Given the description of an element on the screen output the (x, y) to click on. 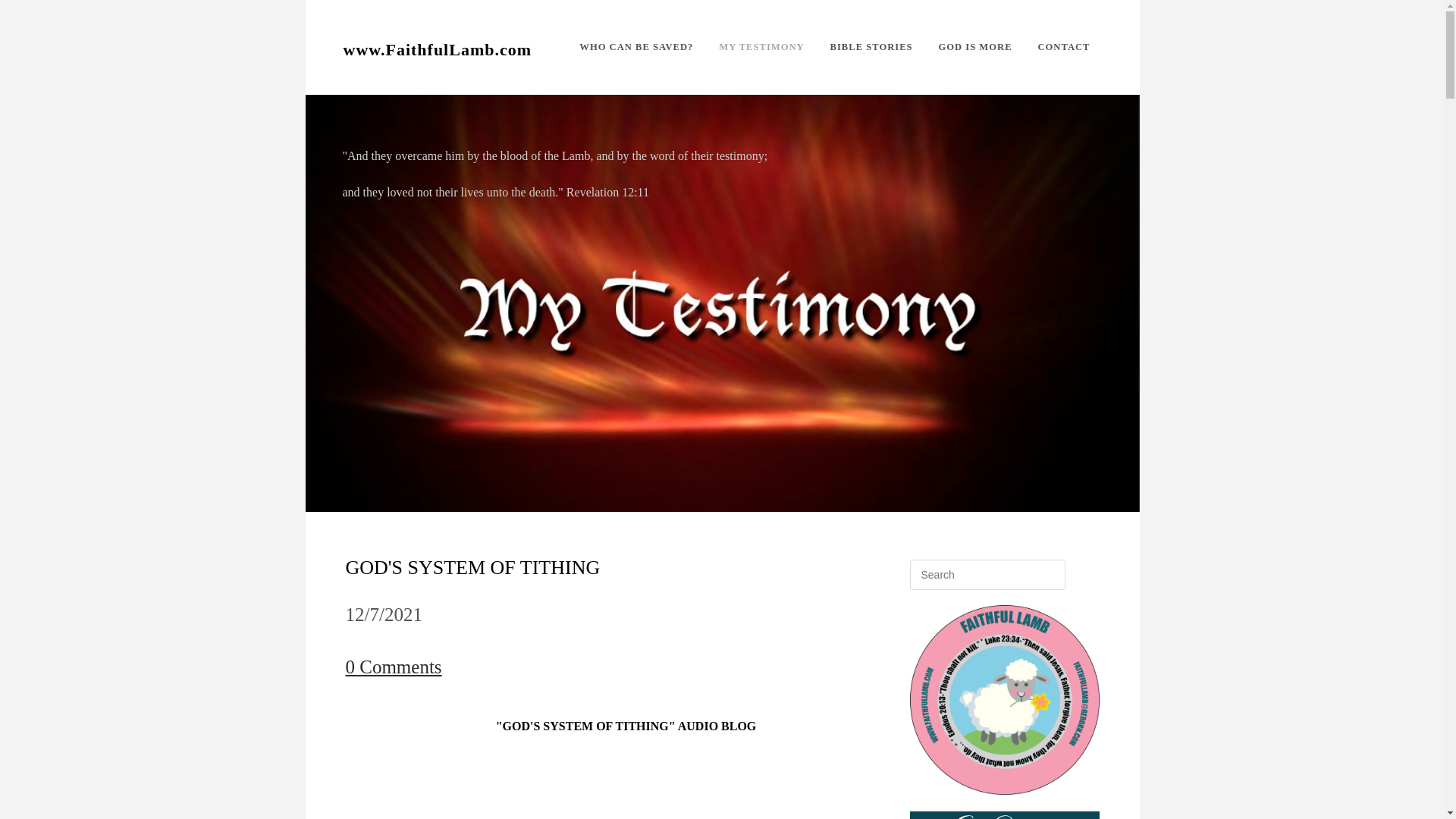
GOD IS MORE (974, 47)
BIBLE STORIES (871, 47)
WHO CAN BE SAVED? (635, 47)
MY TESTIMONY (761, 47)
0 Comments (394, 666)
CONTACT (1063, 47)
GOD'S SYSTEM OF TITHING (472, 567)
www.FaithfulLamb.com (436, 47)
